Given the description of an element on the screen output the (x, y) to click on. 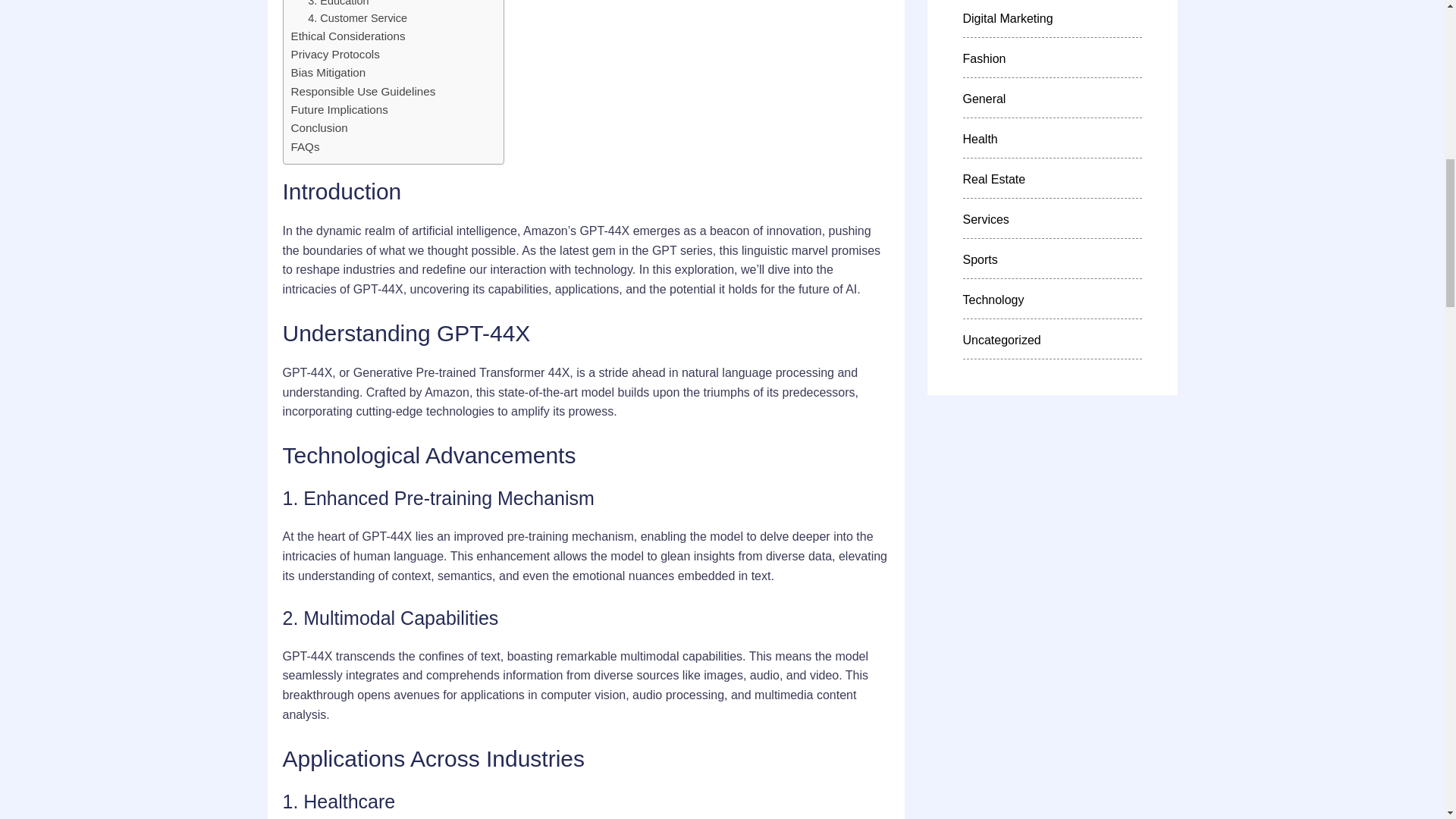
4. Customer Service (357, 18)
3. Education (337, 4)
Ethical Considerations (348, 36)
